Given the description of an element on the screen output the (x, y) to click on. 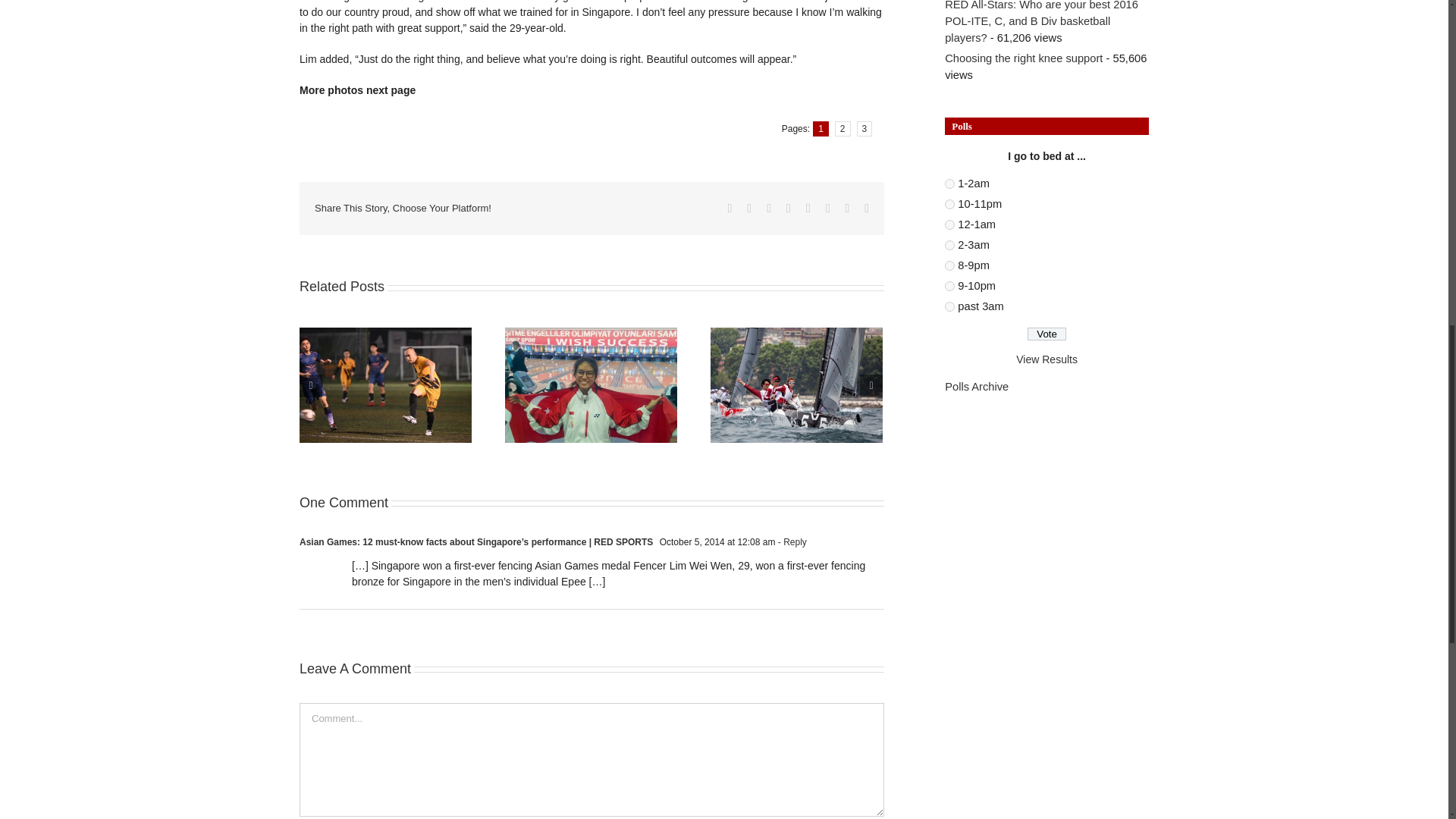
   Vote    (1046, 333)
15737 (949, 184)
15736 (949, 225)
15733 (949, 266)
15735 (949, 204)
3 (864, 128)
15734 (949, 286)
15738 (949, 245)
2 (842, 128)
15739 (949, 307)
